Given the description of an element on the screen output the (x, y) to click on. 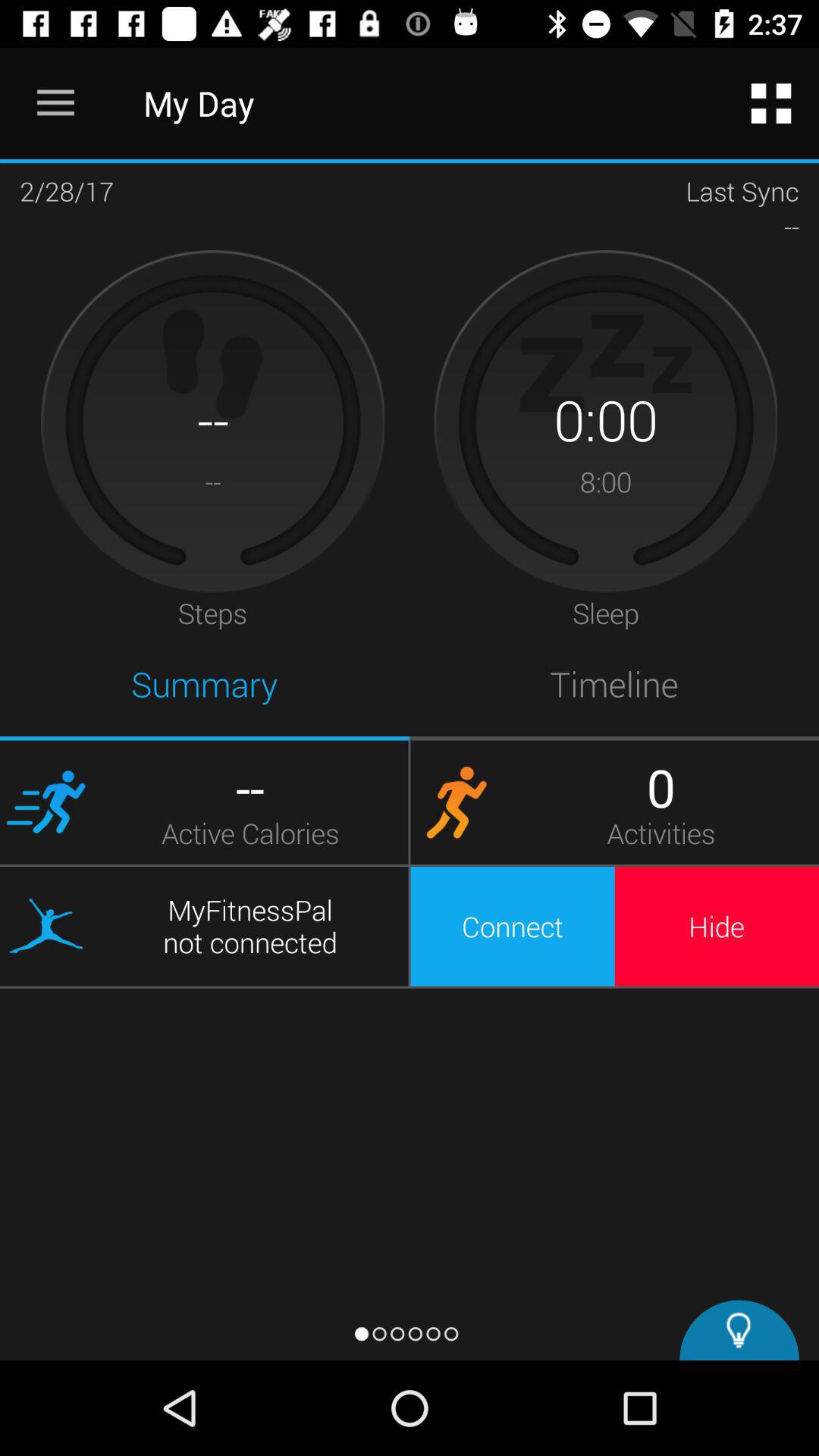
click icon next to my day (771, 103)
